Given the description of an element on the screen output the (x, y) to click on. 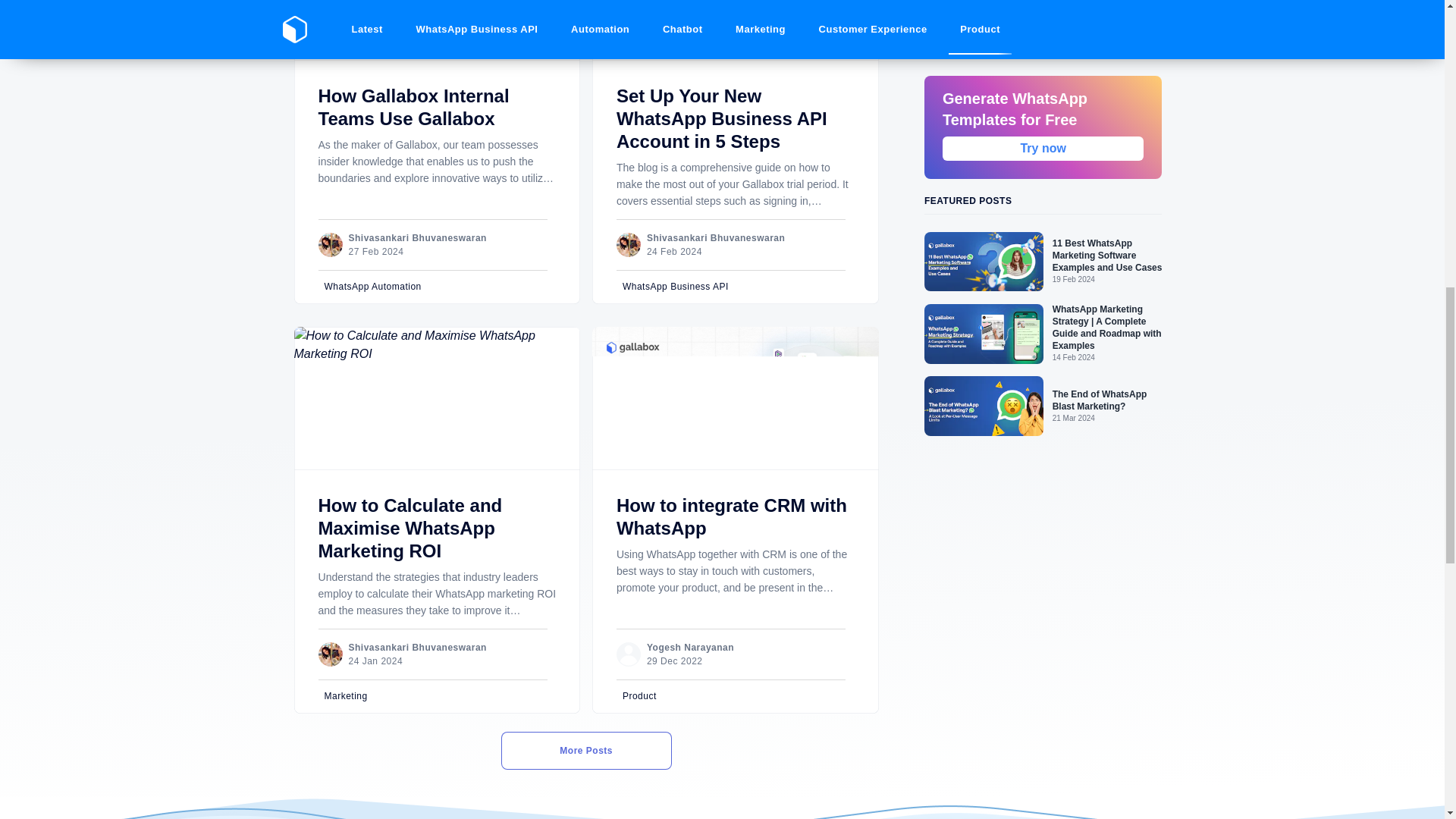
Set Up Your New WhatsApp Business API Account in 5 Steps (721, 118)
How to Calculate and Maximise WhatsApp Marketing ROI (410, 528)
How to integrate CRM with WhatsApp (731, 516)
Marketing (438, 695)
WhatsApp Business API (737, 286)
Shivasankari Bhuvaneswaran (417, 237)
How Gallabox Internal Teams Use Gallabox (413, 106)
Shivasankari Bhuvaneswaran (417, 647)
Shivasankari Bhuvaneswaran (715, 237)
WhatsApp Automation (438, 286)
